Given the description of an element on the screen output the (x, y) to click on. 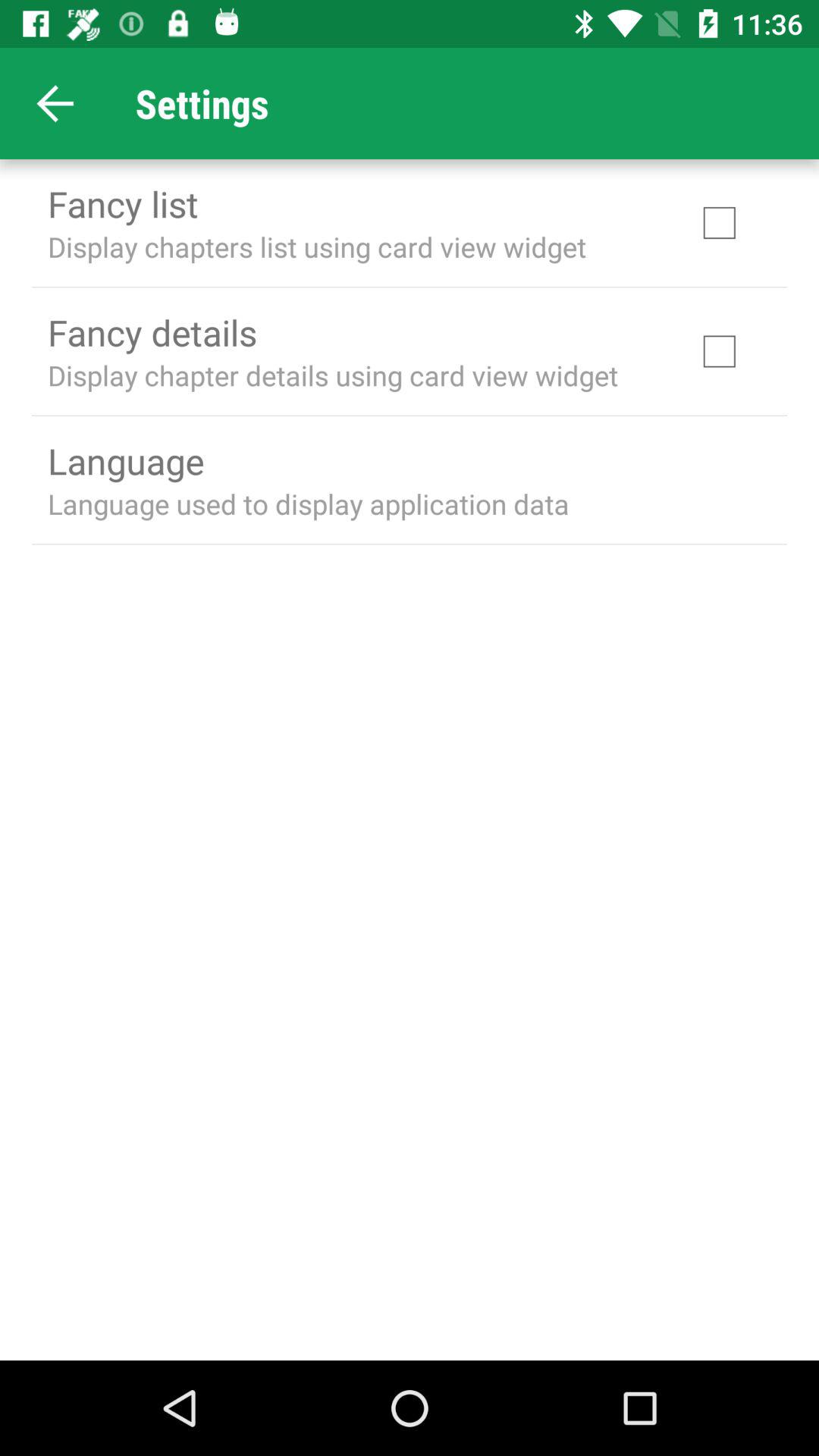
click the item above fancy details icon (316, 246)
